Given the description of an element on the screen output the (x, y) to click on. 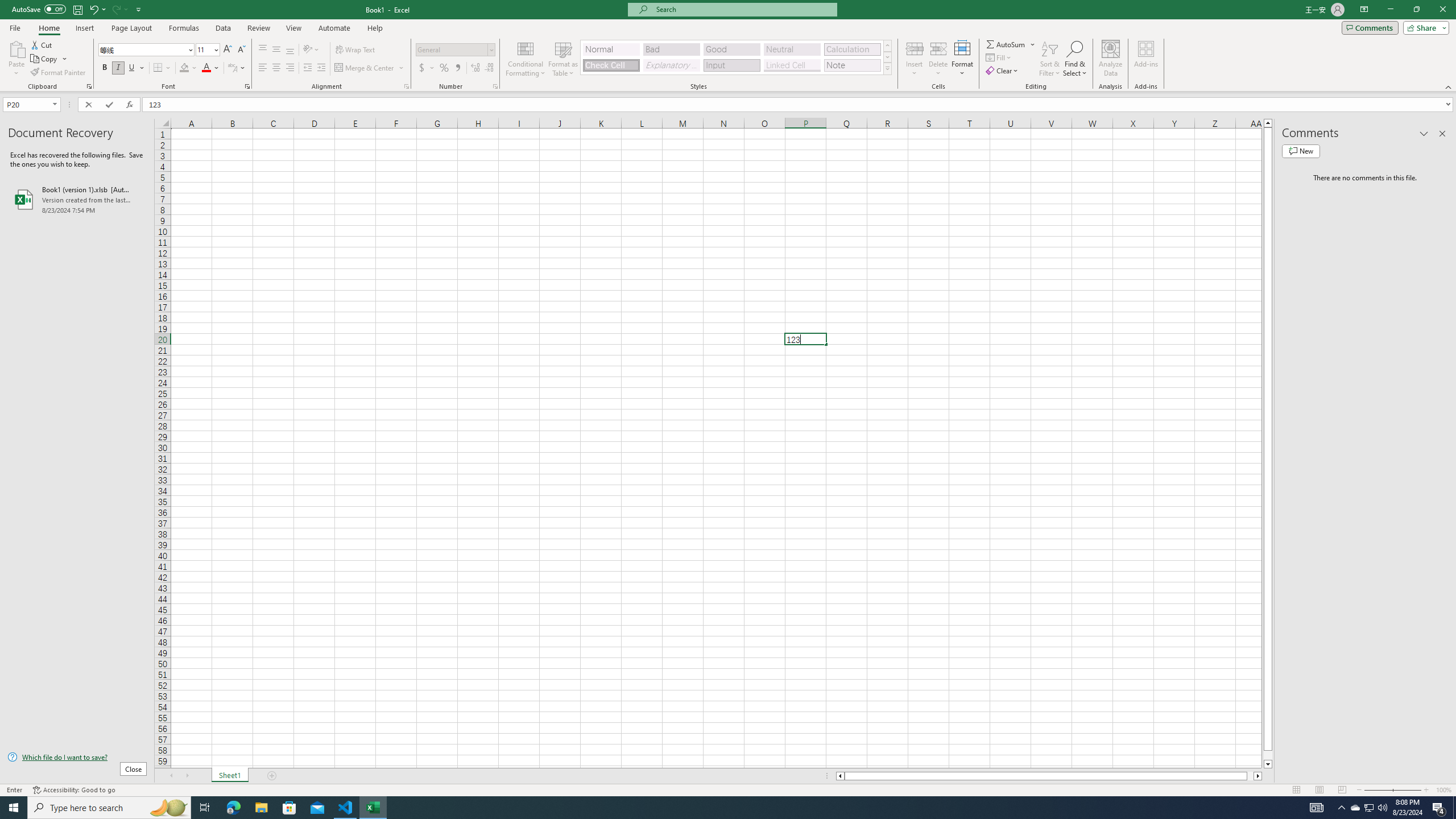
Explanatory Text (671, 65)
Delete (938, 58)
Close pane (1441, 133)
Microsoft search (742, 9)
Show Phonetic Field (236, 67)
Page down (1267, 755)
Percent Style (443, 67)
Review (258, 28)
Which file do I want to save? (77, 757)
Bold (104, 67)
Automate (334, 28)
Font Color (210, 67)
Cell Styles (887, 68)
Number Format (455, 49)
